Given the description of an element on the screen output the (x, y) to click on. 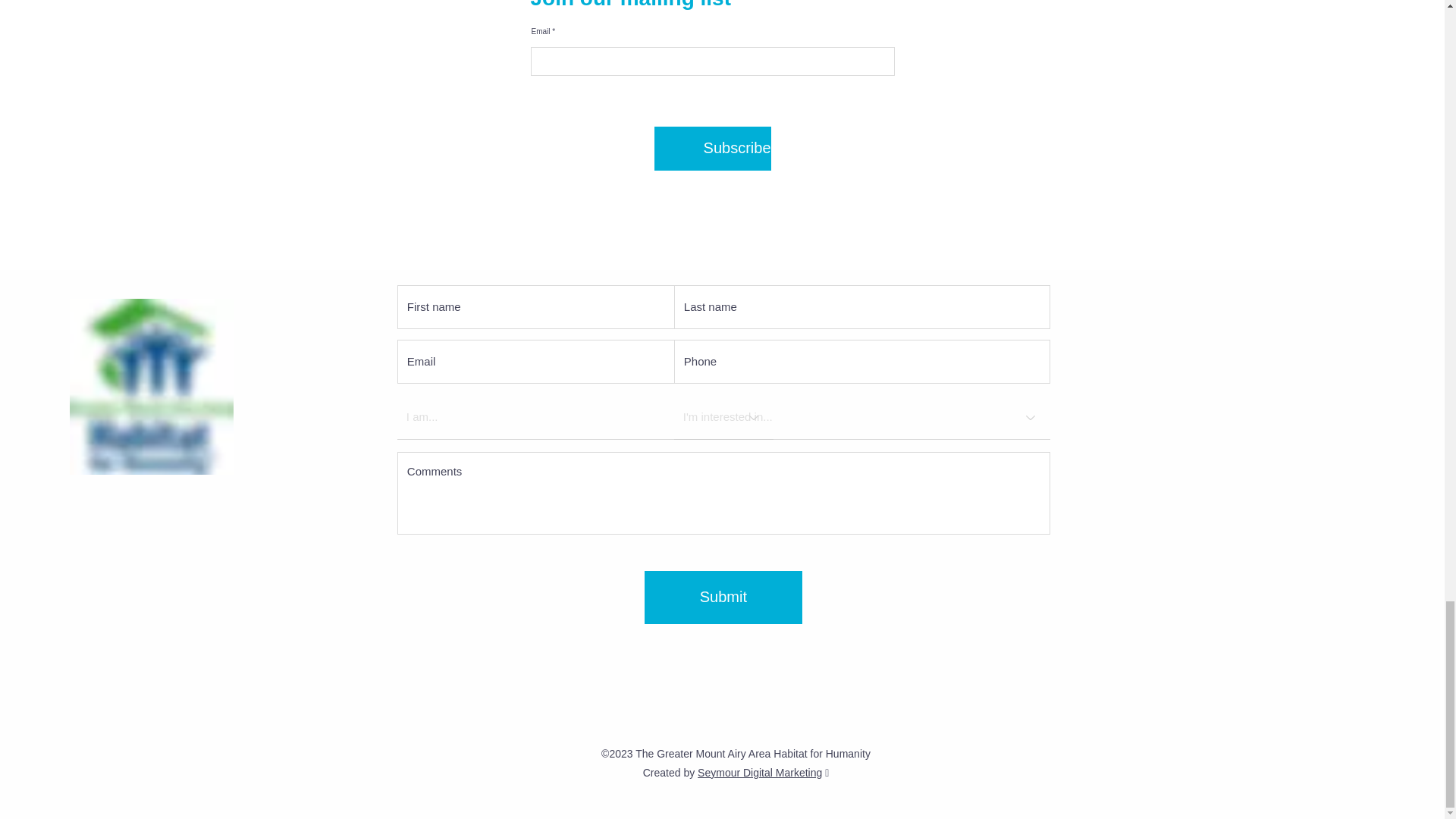
Submit (723, 597)
Seymour Digital Marketing (759, 772)
Subscribe (711, 148)
